Given the description of an element on the screen output the (x, y) to click on. 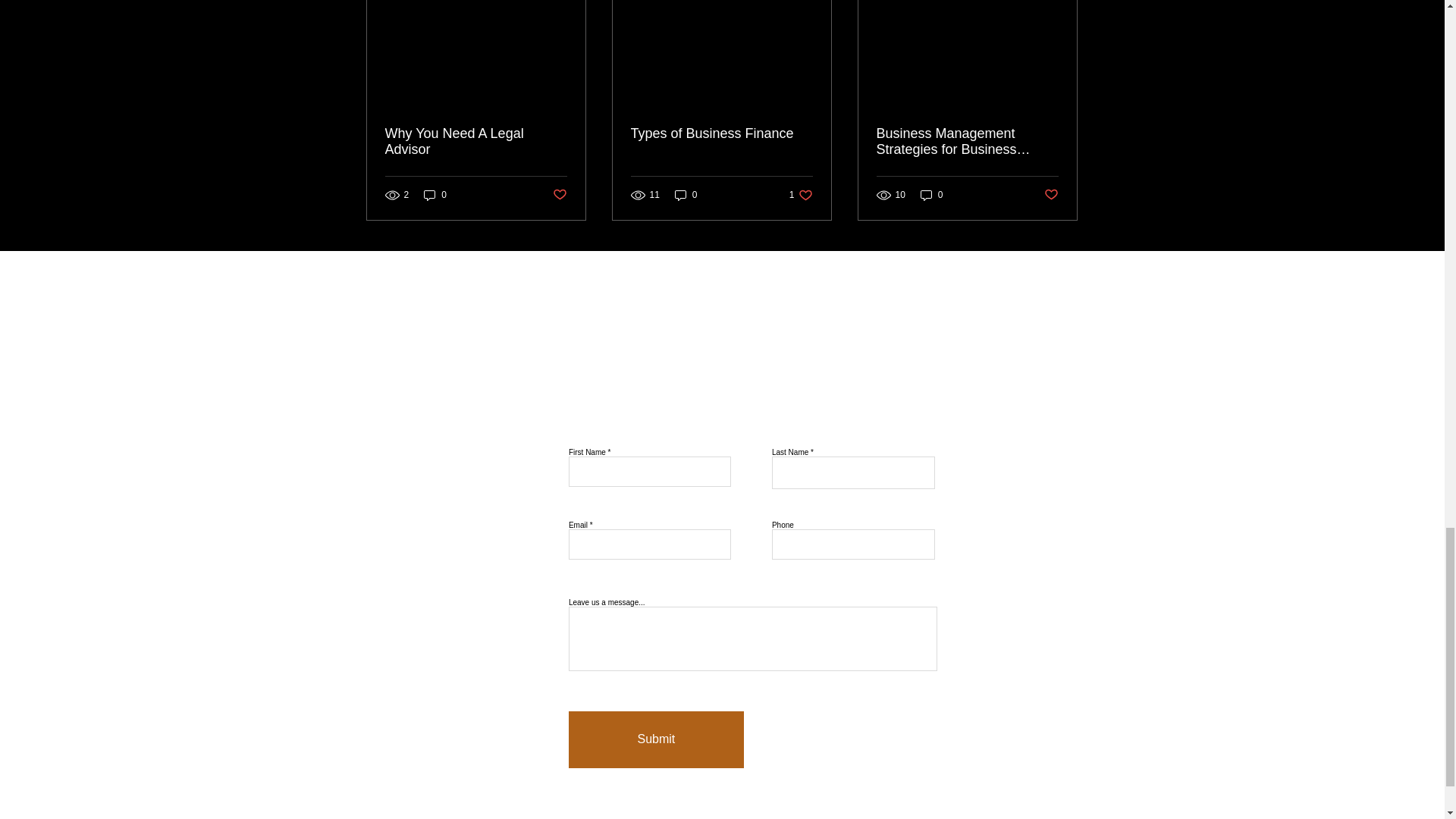
Why You Need A Legal Advisor (476, 142)
0 (435, 195)
Post not marked as liked (558, 195)
Types of Business Finance (721, 133)
